Given the description of an element on the screen output the (x, y) to click on. 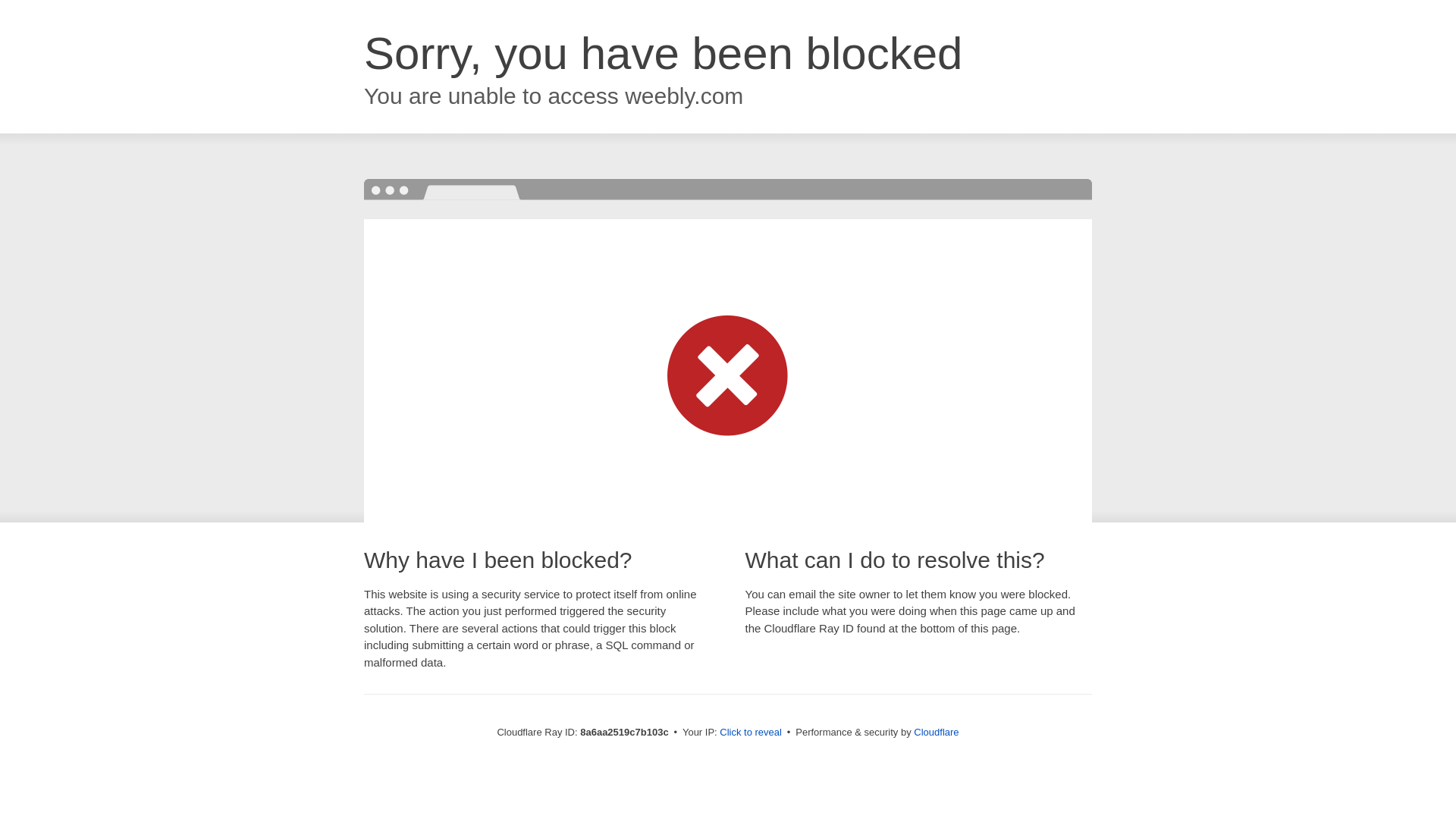
Click to reveal (750, 732)
Cloudflare (936, 731)
